Given the description of an element on the screen output the (x, y) to click on. 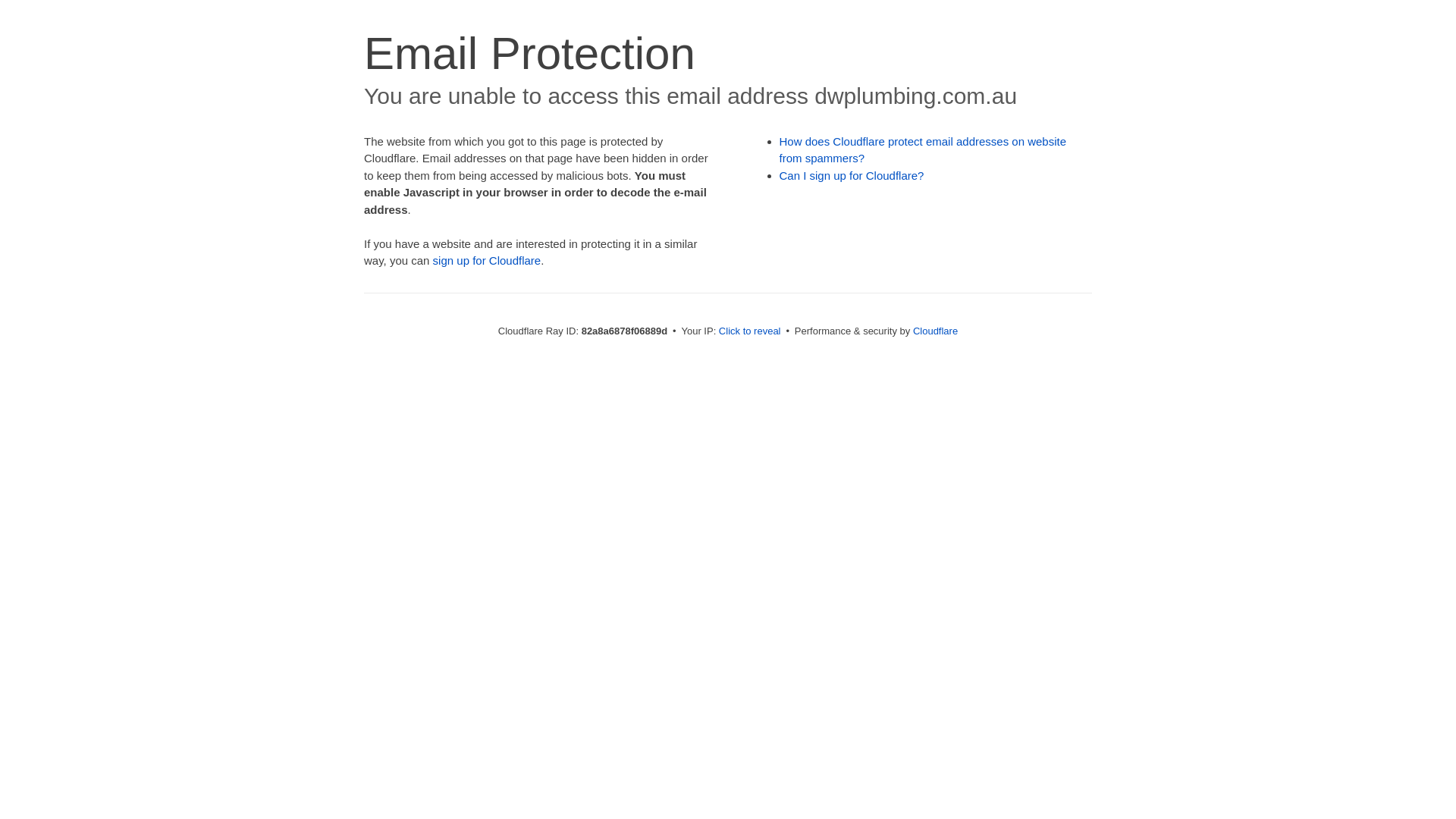
Can I sign up for Cloudflare? Element type: text (851, 175)
Cloudflare Element type: text (935, 330)
Click to reveal Element type: text (749, 330)
sign up for Cloudflare Element type: text (487, 260)
